Given the description of an element on the screen output the (x, y) to click on. 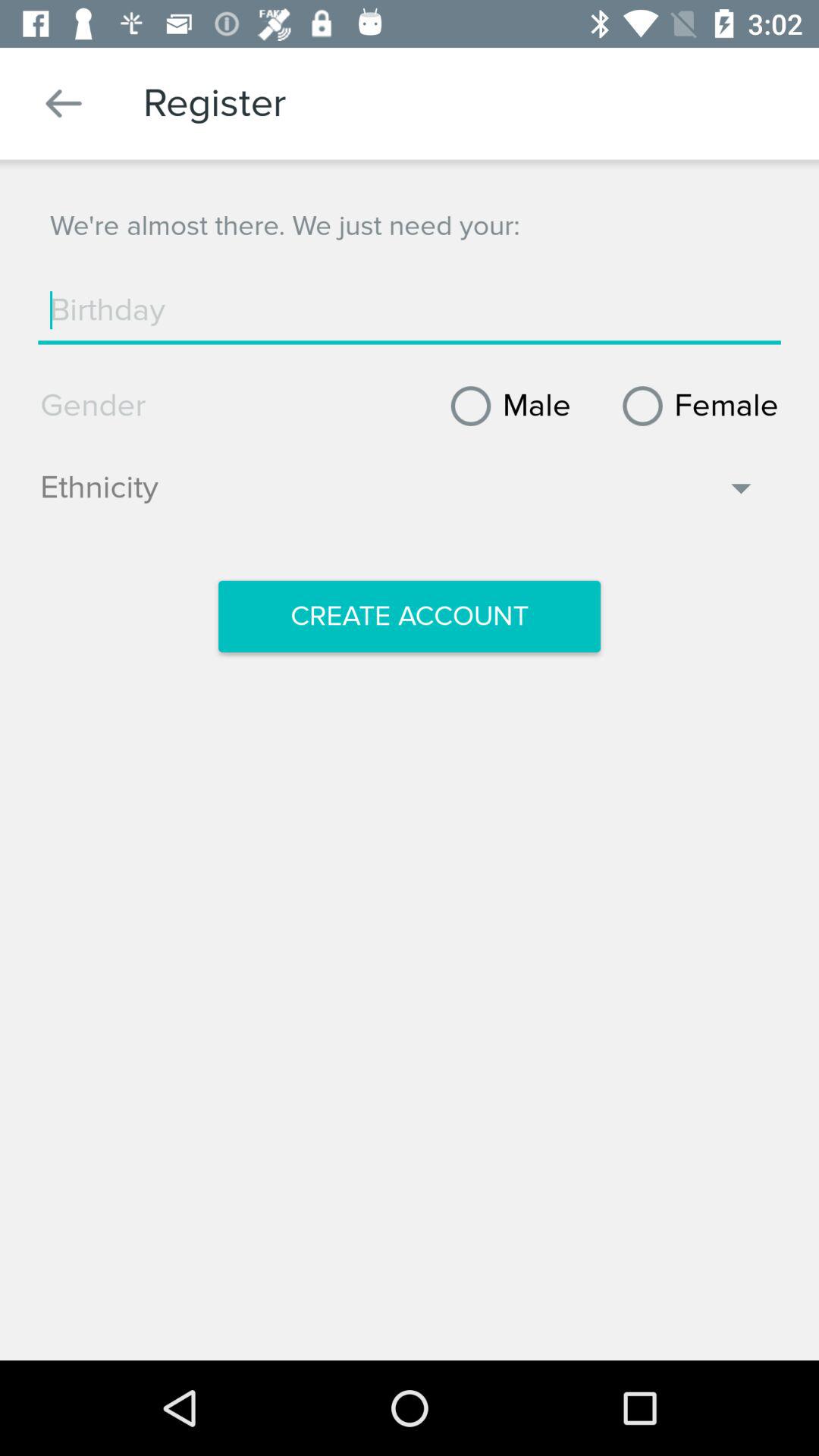
turn off female icon (694, 405)
